Given the description of an element on the screen output the (x, y) to click on. 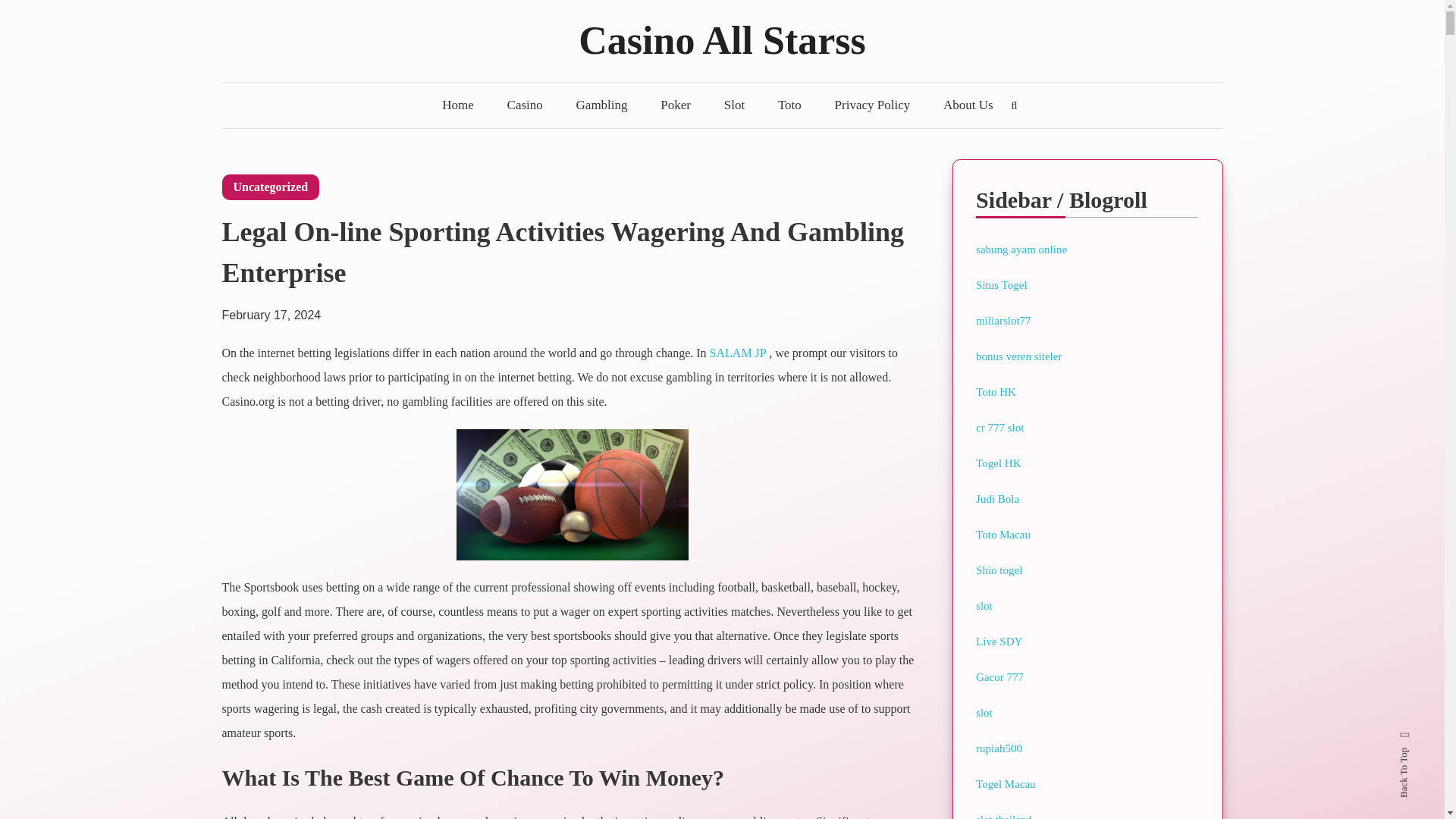
February 17, 2024 (270, 307)
bonus veren siteler (1018, 356)
Search (768, 432)
Toto Macau (1002, 534)
Judi Bola (997, 499)
About Us (968, 104)
Home (457, 104)
Gambling (601, 104)
miliarslot77 (1002, 320)
Uncategorized (269, 186)
